Given the description of an element on the screen output the (x, y) to click on. 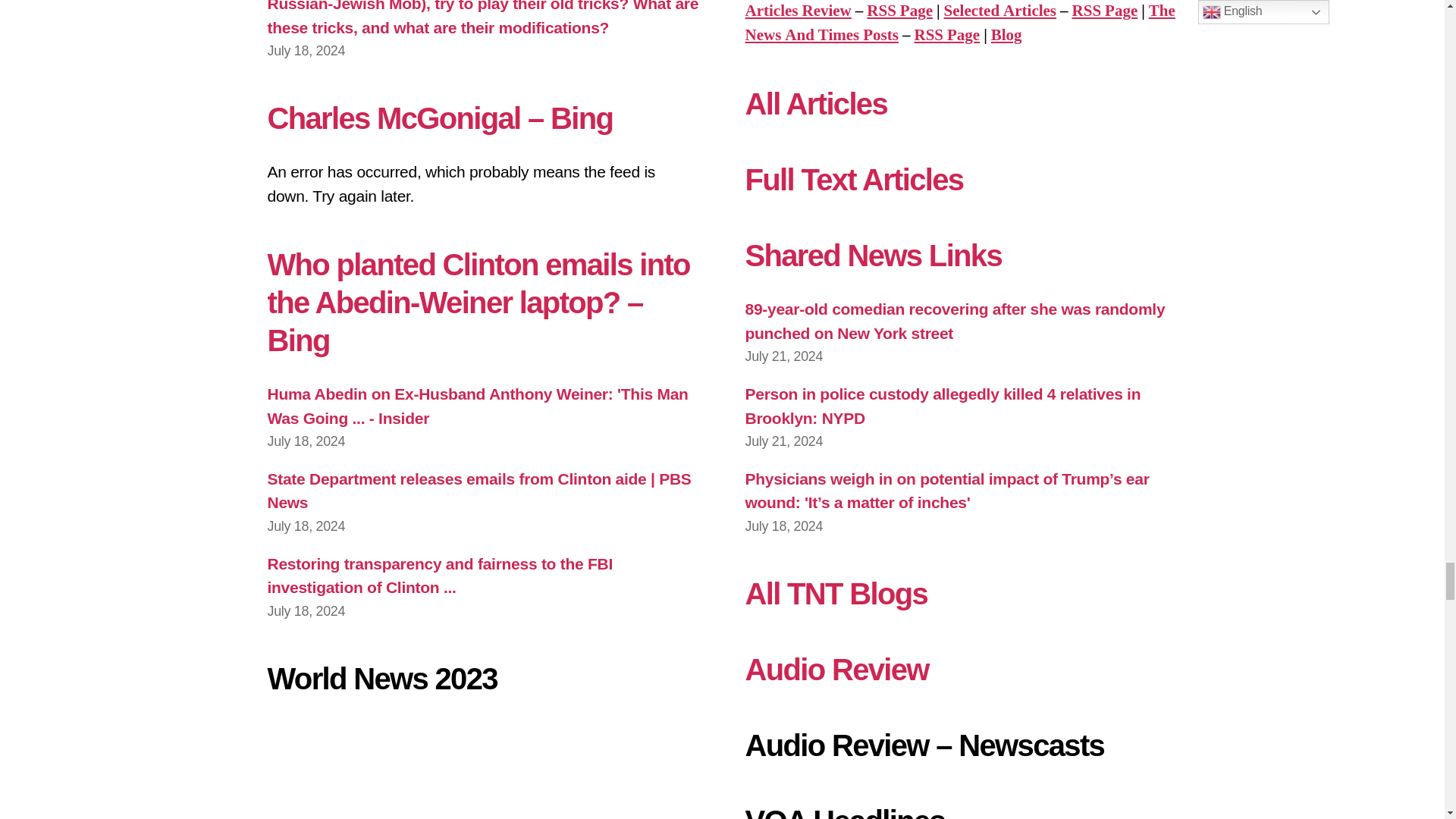
YouTube video player (482, 769)
